Given the description of an element on the screen output the (x, y) to click on. 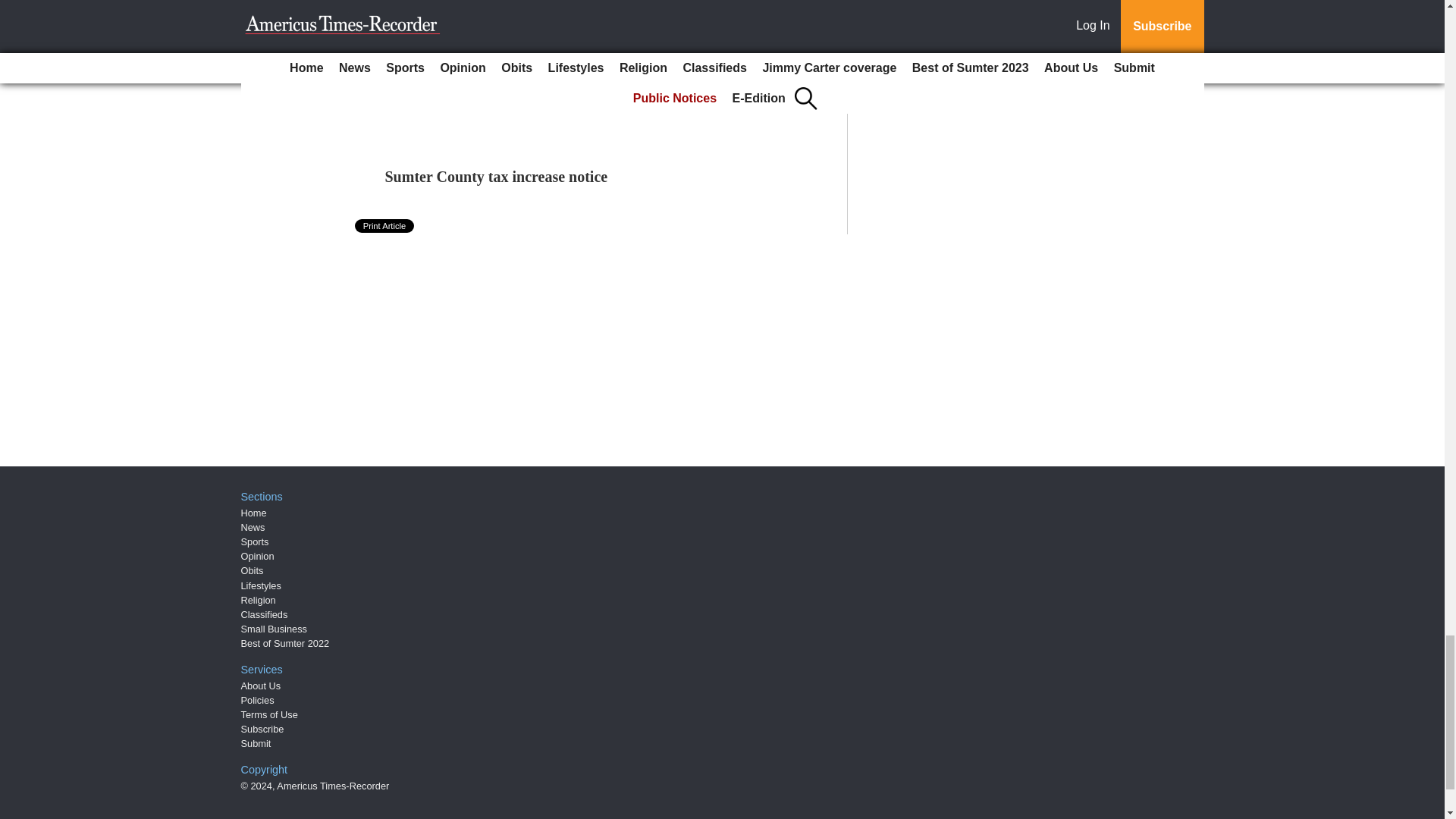
Sumter County tax increase notice (496, 176)
Print Article (384, 225)
Sumter County tax increase notice (496, 176)
Sports (255, 541)
Opinion (258, 555)
Home (253, 512)
News (252, 527)
